Given the description of an element on the screen output the (x, y) to click on. 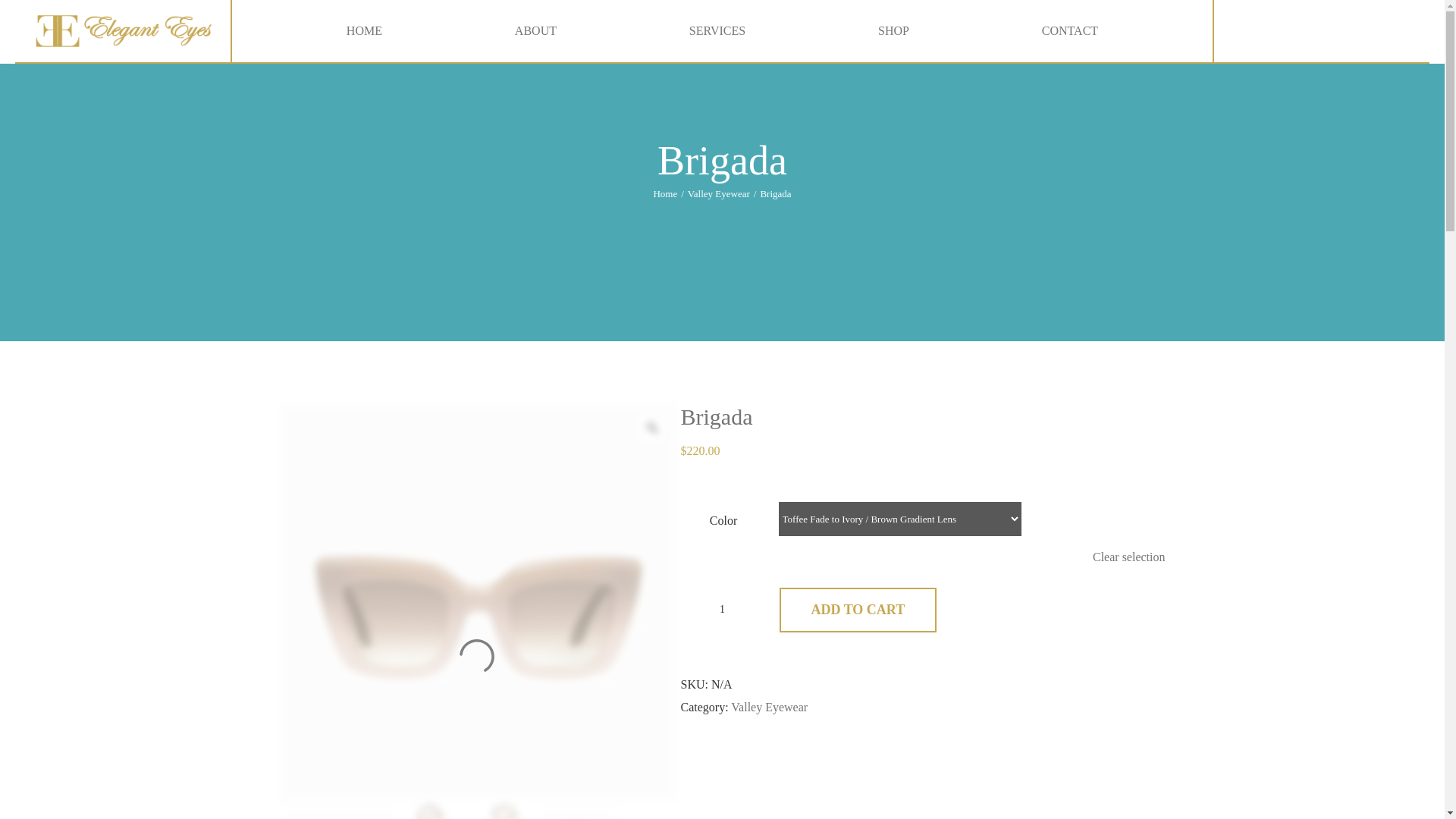
Valley Eyewear (769, 707)
Home (664, 193)
Clear selection (1129, 557)
Valley Eyewear (718, 193)
1 (721, 609)
SHOP (893, 31)
ABOUT (535, 31)
SERVICES (716, 31)
HOME (364, 31)
ADD TO CART (857, 610)
